Given the description of an element on the screen output the (x, y) to click on. 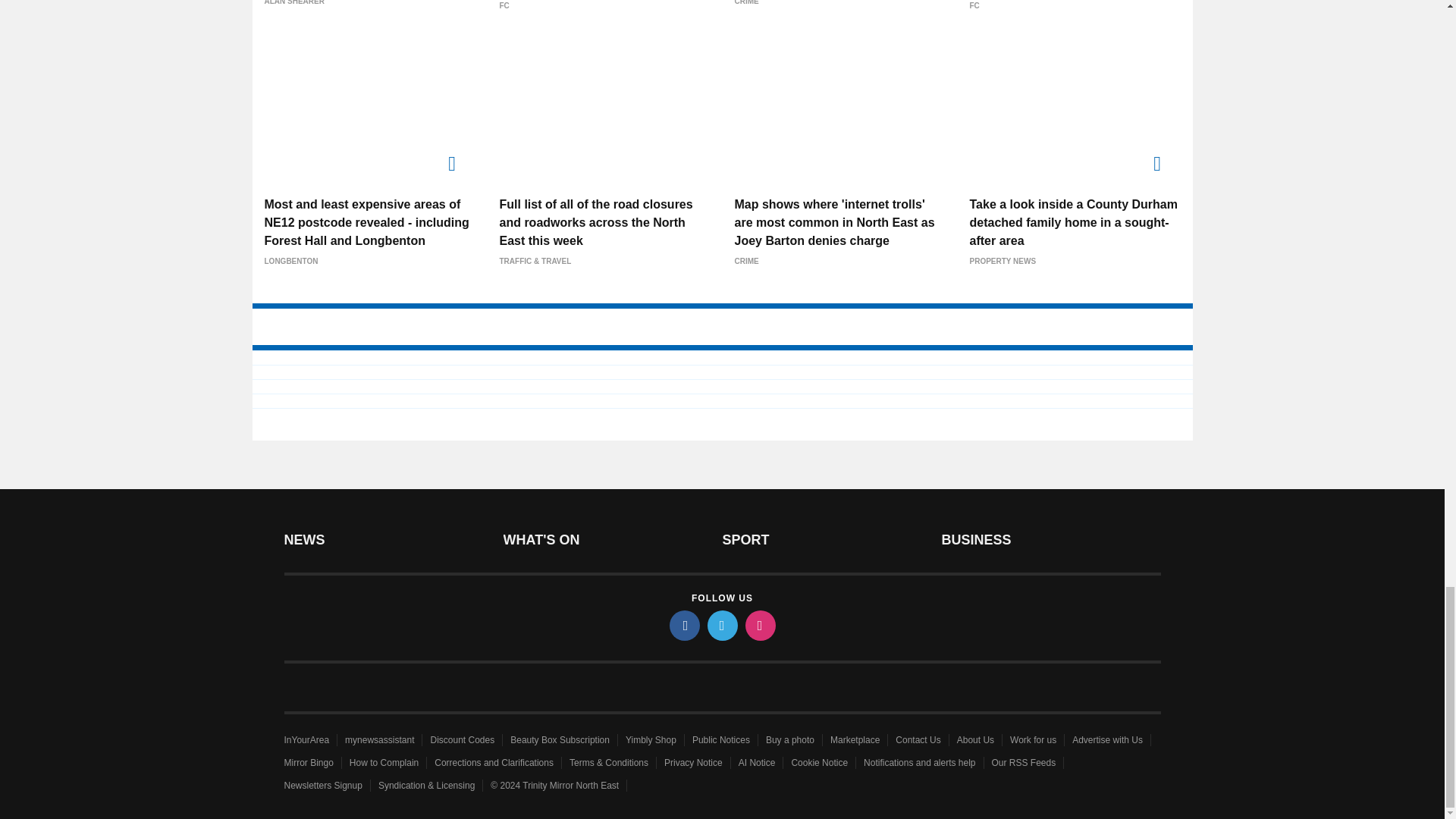
twitter (721, 625)
instagram (759, 625)
facebook (683, 625)
